Given the description of an element on the screen output the (x, y) to click on. 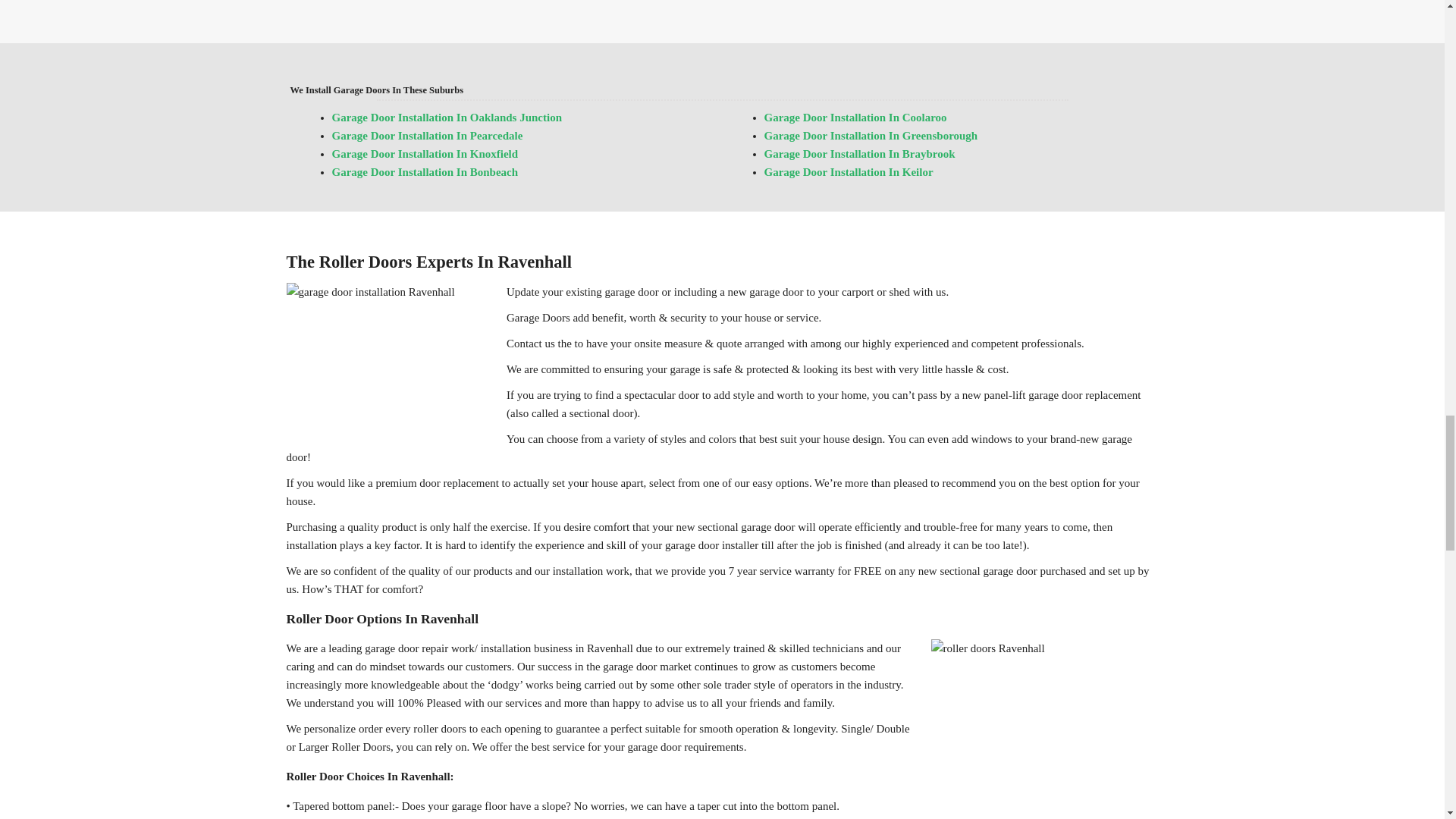
Garage Door Installation In Greensborough (871, 135)
Garage Door Installation In Braybrook (859, 153)
Garage Door Installation In Keilor (848, 172)
Garage Door Installation In Knoxfield (424, 153)
Garage Door Installation In Coolaroo (855, 117)
Garage Door Installation In Pearcedale (426, 135)
Garage Door Installation In Bonbeach (424, 172)
Garage Door Installation In Oaklands Junction (446, 117)
